Given the description of an element on the screen output the (x, y) to click on. 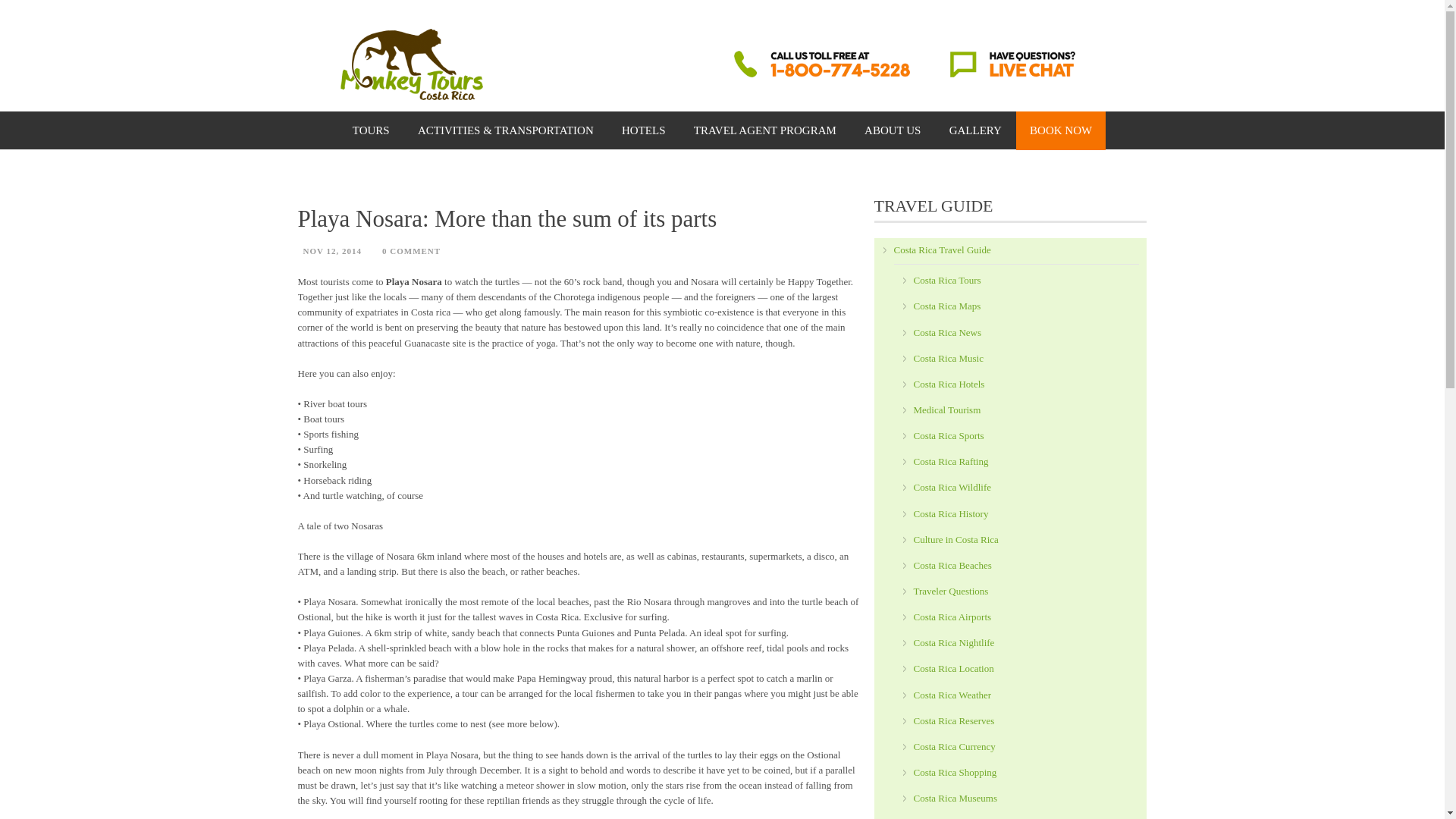
Costa Rica Beaches (951, 564)
Medical Tourism (945, 409)
Costa Rica Reserves (953, 720)
TOURS (371, 130)
Culture in Costa Rica (954, 539)
Costa Rica Currency (953, 746)
Costa Rica History (950, 513)
Costa Rica Travel Guide (941, 249)
Costa Rica Nightlife (953, 642)
Costa Rica News (946, 332)
